Given the description of an element on the screen output the (x, y) to click on. 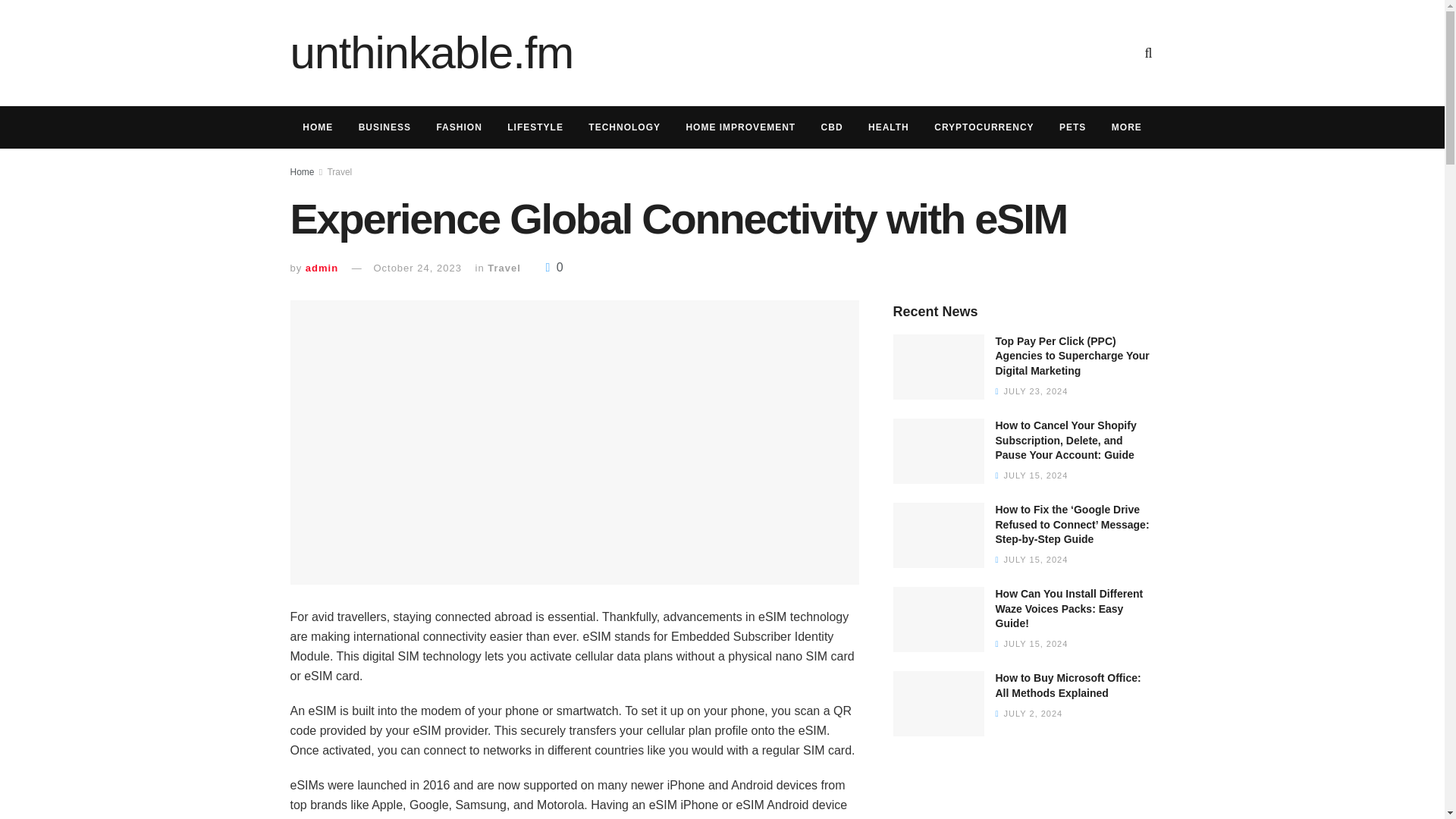
HEALTH (888, 127)
FASHION (459, 127)
PETS (1072, 127)
TECHNOLOGY (624, 127)
LIFESTYLE (535, 127)
CBD (832, 127)
MORE (1126, 127)
HOME (317, 127)
HOME IMPROVEMENT (740, 127)
CRYPTOCURRENCY (983, 127)
unthinkable.fm (430, 53)
BUSINESS (384, 127)
